Given the description of an element on the screen output the (x, y) to click on. 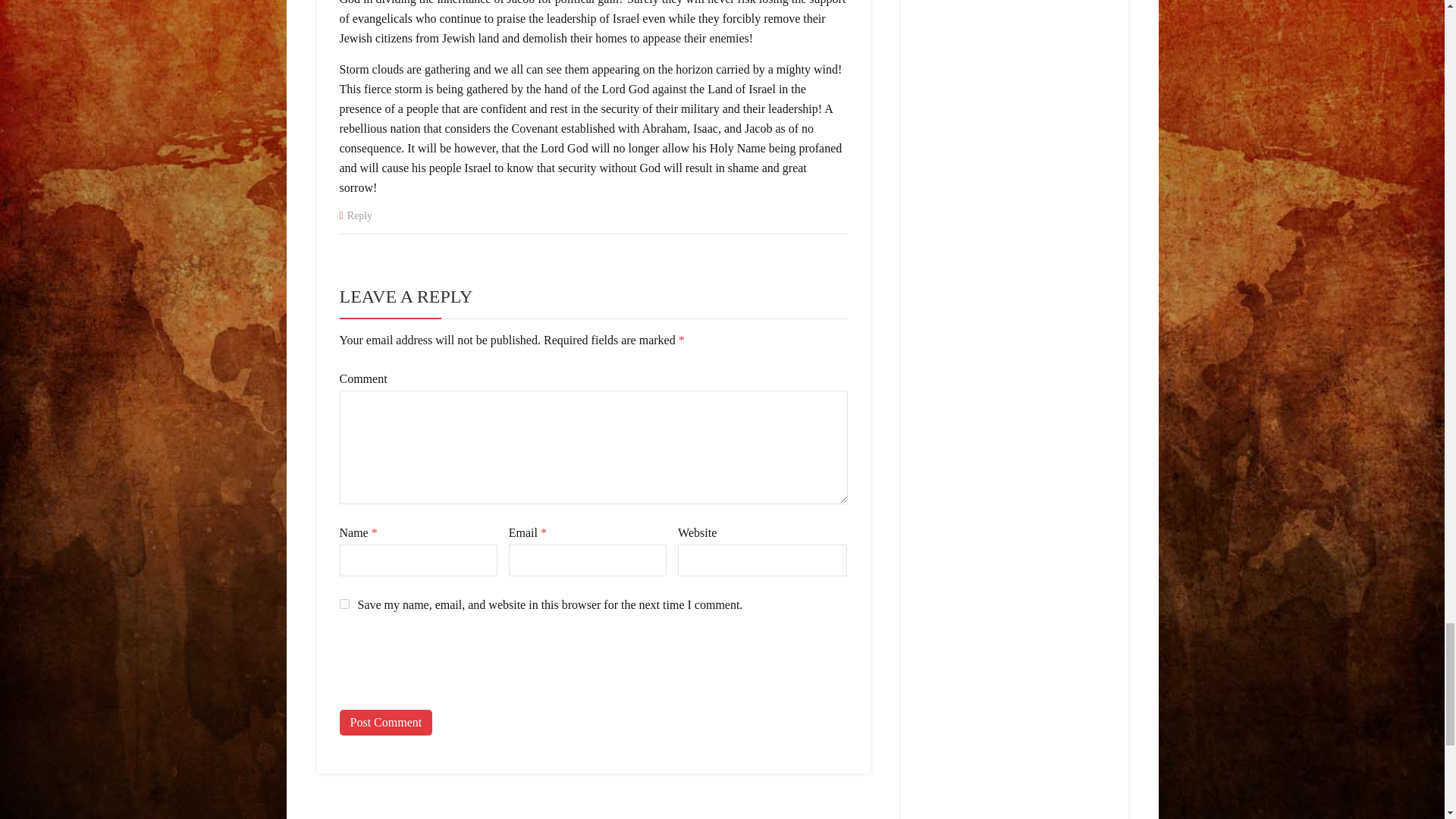
Post Comment (385, 722)
yes (344, 603)
